Given the description of an element on the screen output the (x, y) to click on. 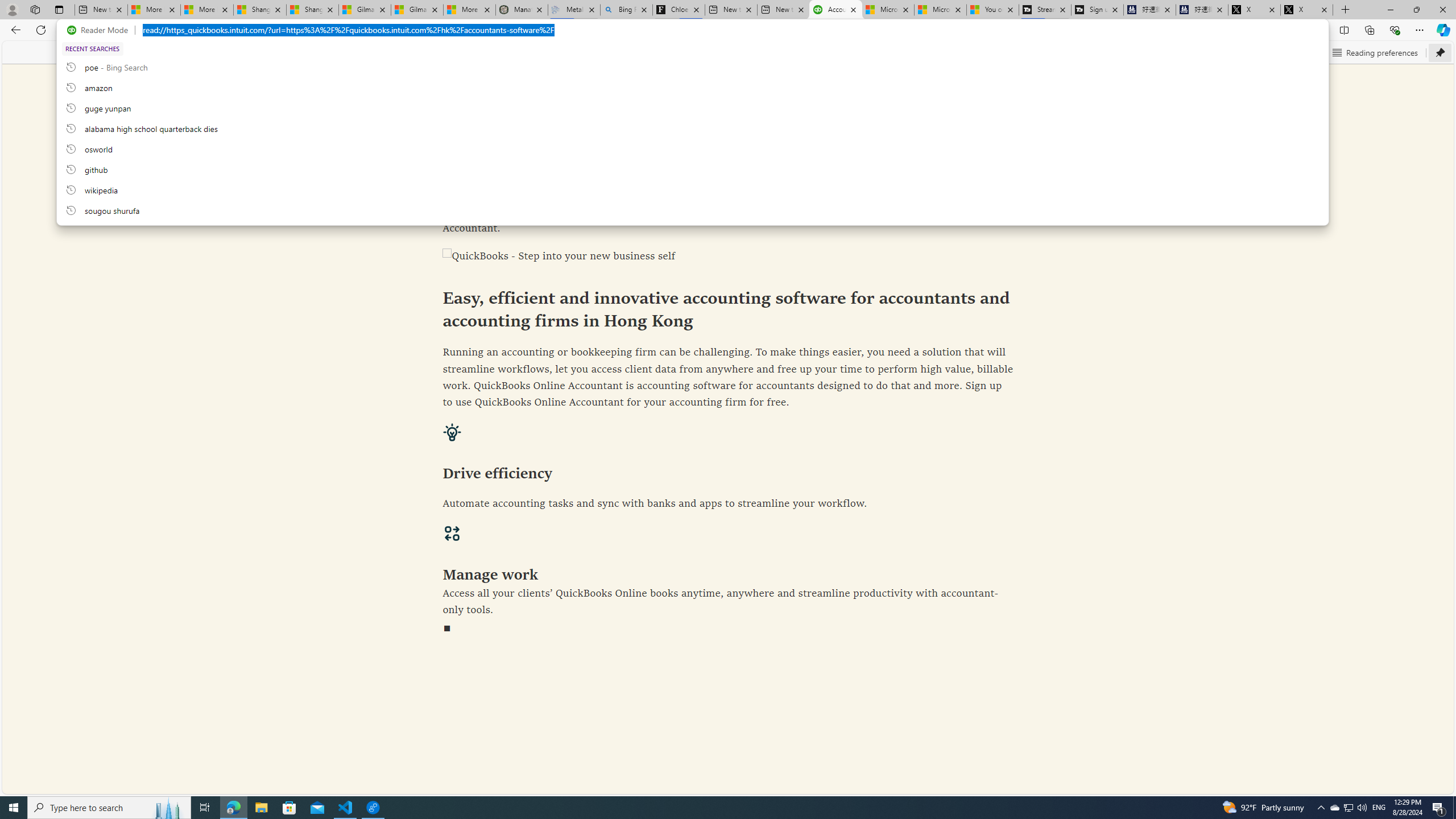
amazon, recent searches from history (691, 86)
osworld, recent searches from history (691, 148)
Read aloud (1209, 52)
github, recent searches from history (691, 168)
Accounting Software for Accountants, CPAs and Bookkeepers (835, 9)
guge yunpan, recent searches from history (691, 107)
